Given the description of an element on the screen output the (x, y) to click on. 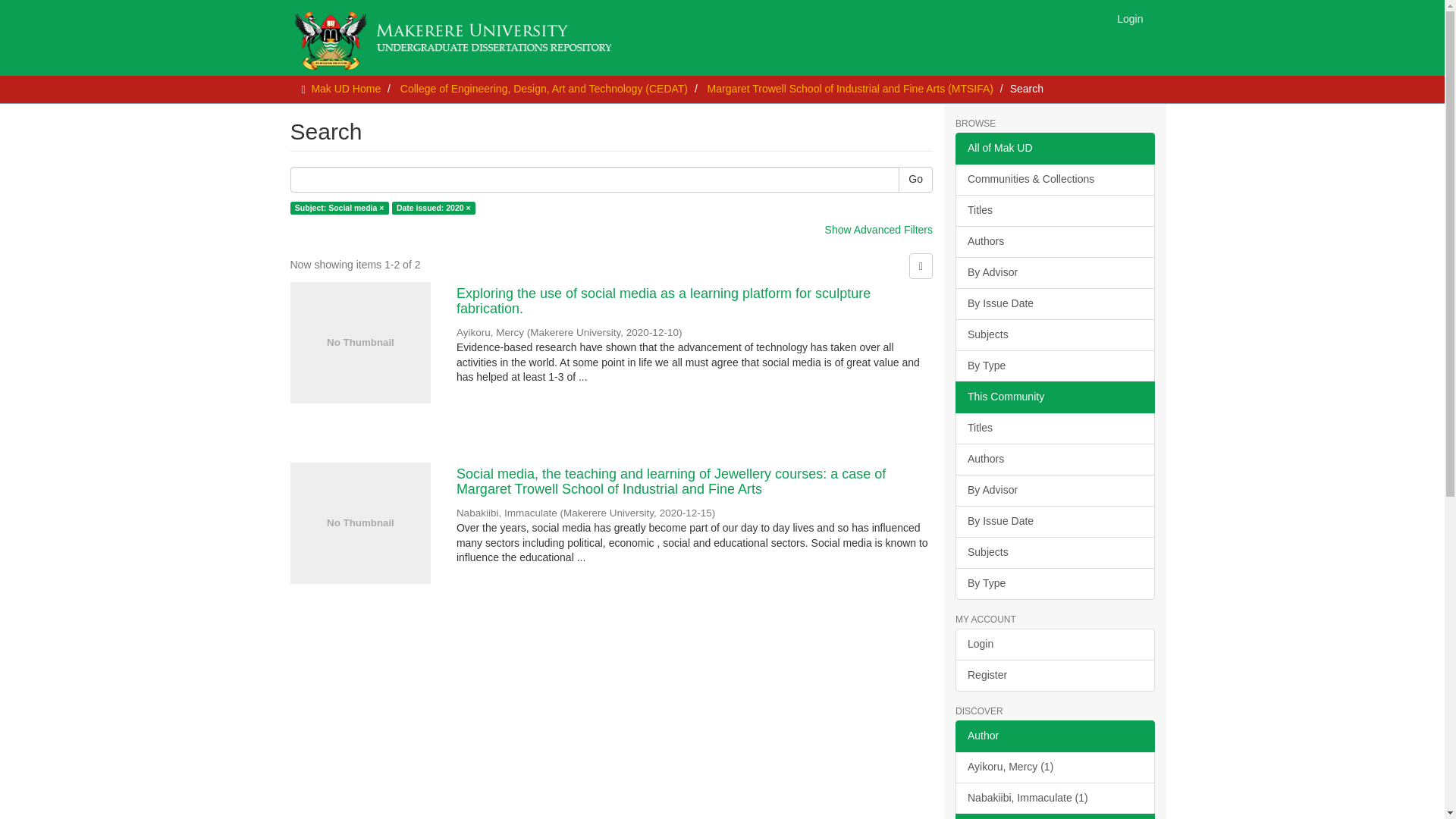
Login (1129, 18)
Mak UD Home (345, 88)
Show Advanced Filters (879, 229)
Go (915, 179)
